Given the description of an element on the screen output the (x, y) to click on. 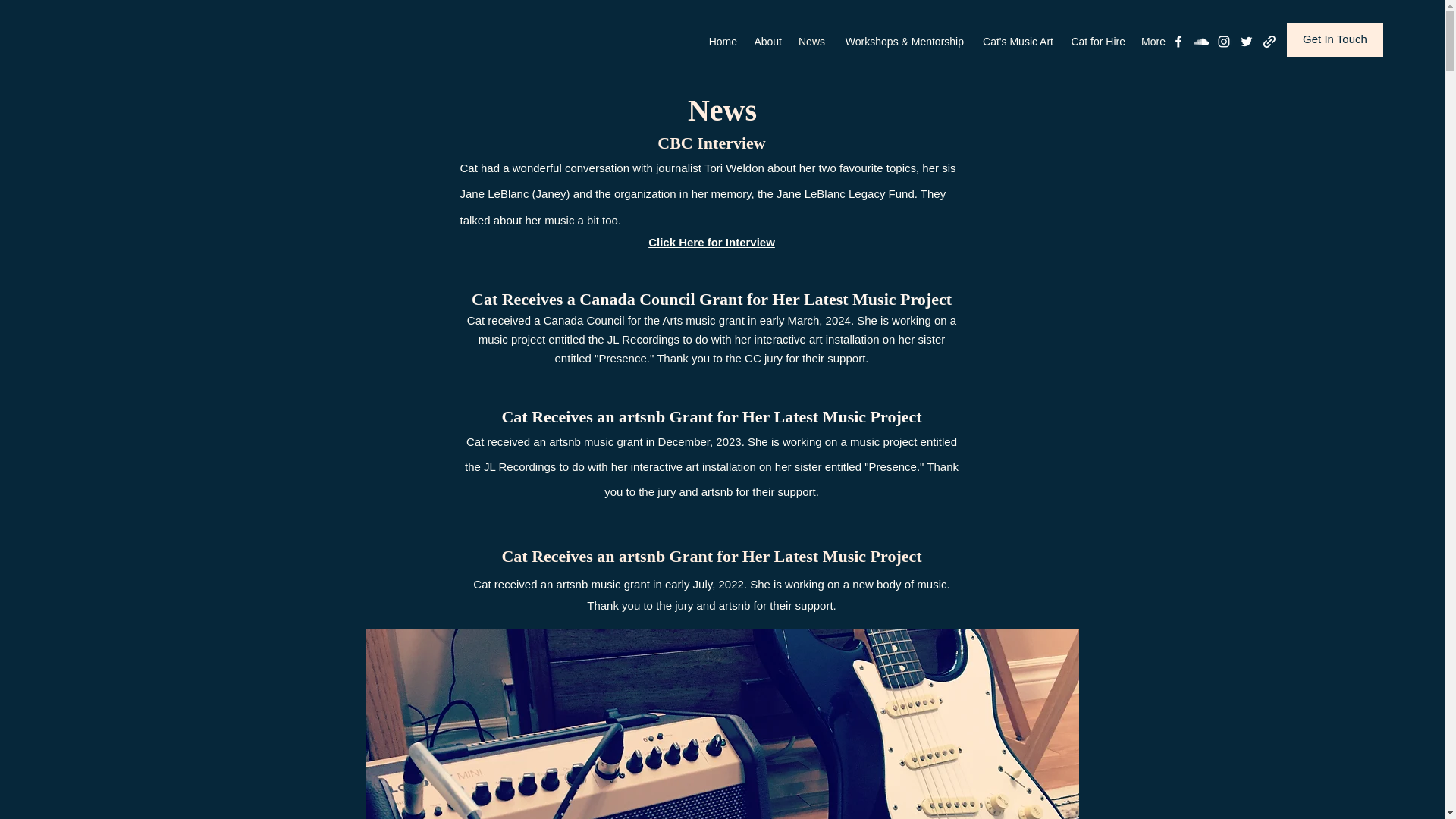
Cat for Hire (1096, 41)
Click Here for Interview (710, 241)
Cat's Music Art (1016, 41)
Home (722, 41)
About (766, 41)
News (810, 41)
Get In Touch (1335, 39)
